Given the description of an element on the screen output the (x, y) to click on. 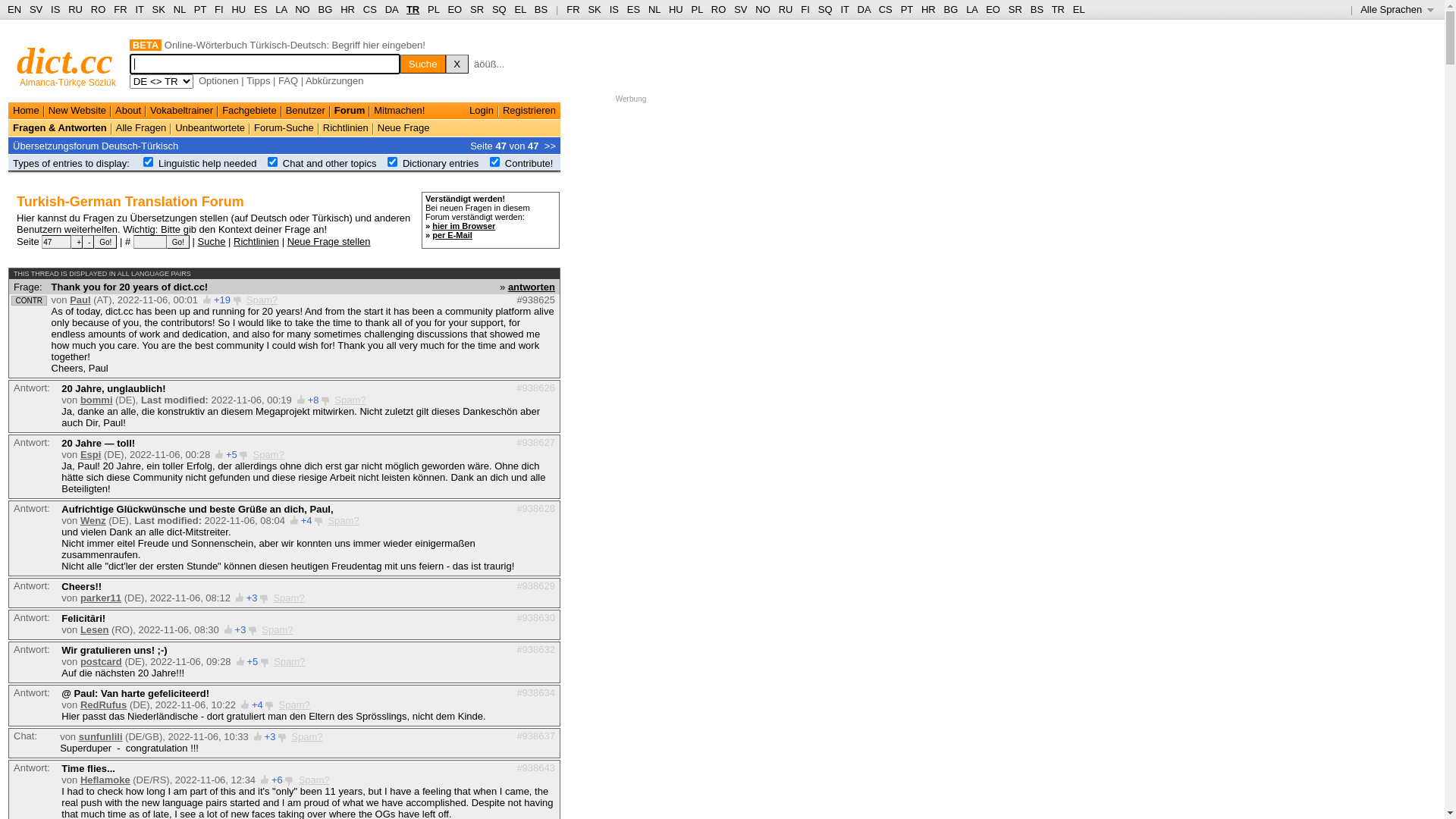
SR Element type: text (476, 9)
#938637 Element type: text (535, 734)
RedRufus Element type: text (103, 704)
Spam? Element type: text (288, 597)
Neue Frage stellen Element type: text (328, 240)
X Element type: text (456, 63)
RO Element type: text (98, 9)
EL Element type: text (520, 9)
Spam? Element type: text (288, 661)
IS Element type: text (613, 9)
+3 Element type: text (270, 736)
Paul Element type: text (79, 299)
Login Element type: text (481, 110)
IT Element type: text (844, 9)
Spam? Element type: text (294, 704)
Espi Element type: text (90, 454)
PT Element type: text (200, 9)
Mitmachen! Element type: text (398, 110)
PT Element type: text (906, 9)
LA Element type: text (971, 9)
antworten Element type: text (531, 285)
FAQ Element type: text (288, 80)
Tipps Element type: text (257, 80)
EO Element type: text (992, 9)
NO Element type: text (762, 9)
Go! Element type: text (177, 241)
HR Element type: text (928, 9)
RO Element type: text (718, 9)
BS Element type: text (1036, 9)
+3 Element type: text (251, 597)
TR Element type: text (1057, 9)
IS Element type: text (54, 9)
NO Element type: text (302, 9)
on Element type: text (392, 161)
Spam? Element type: text (342, 520)
RU Element type: text (785, 9)
Richtlinien Element type: text (345, 127)
HU Element type: text (675, 9)
Suche Element type: text (211, 240)
+5 Element type: text (251, 661)
PL Element type: text (433, 9)
#938626 Element type: text (535, 387)
FR Element type: text (572, 9)
Dictionary entries Element type: text (440, 163)
SV Element type: text (740, 9)
postcard Element type: text (101, 661)
Spam? Element type: text (306, 736)
+6 Element type: text (276, 779)
Spam? Element type: text (313, 779)
SR Element type: text (1015, 9)
SK Element type: text (593, 9)
ES Element type: text (633, 9)
Forum Element type: text (349, 110)
About Element type: text (128, 110)
New Website Element type: text (77, 110)
RU Element type: text (75, 9)
NL Element type: text (179, 9)
Suche Element type: text (422, 63)
Benutzer Element type: text (305, 110)
parker11 Element type: text (100, 597)
Forum-Suche Element type: text (283, 127)
BG Element type: text (950, 9)
LA Element type: text (280, 9)
+5 Element type: text (231, 454)
#938630 Element type: text (535, 616)
Fachgebiete Element type: text (249, 110)
CS Element type: text (885, 9)
#938632 Element type: text (535, 648)
Unbeantwortete Element type: text (209, 127)
TR Element type: text (412, 9)
Turkish-German Translation Forum Element type: text (130, 201)
sunfunlili Element type: text (100, 736)
Richtlinien Element type: text (256, 240)
NL Element type: text (654, 9)
DA Element type: text (391, 9)
#938627 Element type: text (535, 442)
Go! Element type: text (105, 241)
#938643 Element type: text (535, 766)
Home Element type: text (25, 110)
Heflamoke Element type: text (105, 779)
+8 Element type: text (313, 399)
Optionen Element type: text (218, 80)
Spam? Element type: text (349, 399)
EL Element type: text (1079, 9)
FR Element type: text (119, 9)
Fragen & Antworten Element type: text (59, 127)
Lesen Element type: text (94, 629)
+4 Element type: text (257, 704)
Spam? Element type: text (261, 299)
>> Element type: text (549, 144)
CONTR Element type: text (28, 300)
on Element type: text (148, 161)
SV Element type: text (35, 9)
Vokabeltrainer Element type: text (181, 110)
BS Element type: text (540, 9)
EN Element type: text (14, 9)
BG Element type: text (325, 9)
Chat and other topics Element type: text (329, 163)
Neue Frage Element type: text (403, 127)
Spam? Element type: text (276, 629)
on Element type: text (272, 161)
FI Element type: text (218, 9)
EO Element type: text (454, 9)
Spam? Element type: text (268, 454)
DA Element type: text (863, 9)
CS Element type: text (369, 9)
#938634 Element type: text (535, 692)
Alle Fragen Element type: text (141, 127)
ES Element type: text (260, 9)
+4 Element type: text (306, 520)
bommi Element type: text (96, 399)
#938628 Element type: text (535, 507)
SQ Element type: text (825, 9)
Wenz Element type: text (93, 520)
+19 Element type: text (221, 299)
HU Element type: text (238, 9)
HR Element type: text (347, 9)
IT Element type: text (138, 9)
on Element type: text (494, 161)
#938625 Element type: text (535, 299)
Contribute! Element type: text (529, 163)
PL Element type: text (696, 9)
Registrieren Element type: text (528, 110)
Linguistic help needed Element type: text (207, 163)
Alle Sprachen  Element type: text (1397, 9)
+3 Element type: text (240, 629)
#938629 Element type: text (535, 584)
FI Element type: text (804, 9)
dict.cc Element type: text (64, 60)
SQ Element type: text (499, 9)
SK Element type: text (158, 9)
